Given the description of an element on the screen output the (x, y) to click on. 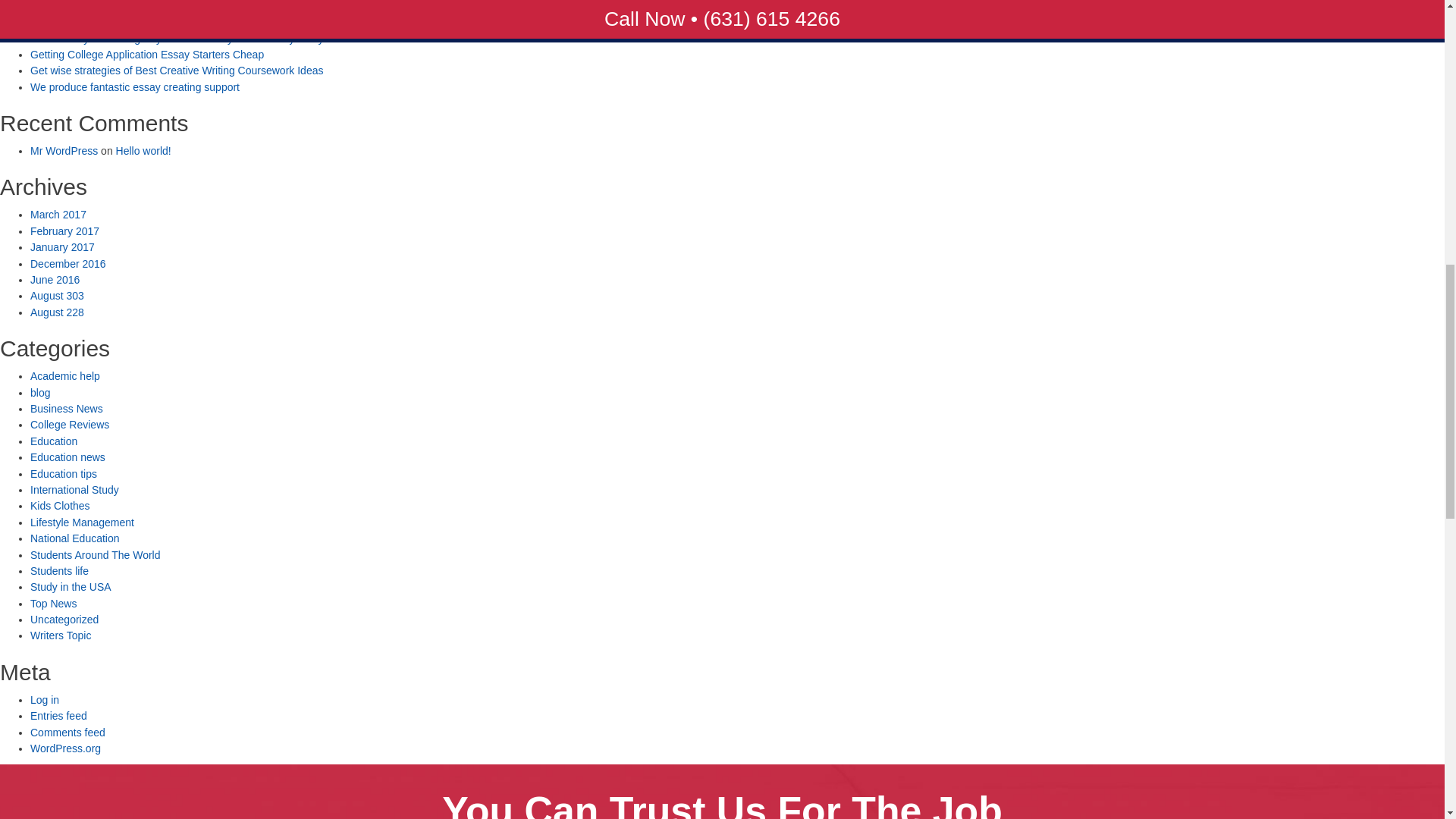
Mr WordPress (63, 150)
Hello world! (143, 150)
Advantage Of Faculty Admission Dissertation Writing Service (173, 21)
Getting College Application Essay Starters Cheap (146, 54)
January 2017 (62, 246)
February 2017 (64, 231)
We produce fantastic essay creating support (135, 87)
March 2017 (57, 214)
December 2016 (68, 263)
